Given the description of an element on the screen output the (x, y) to click on. 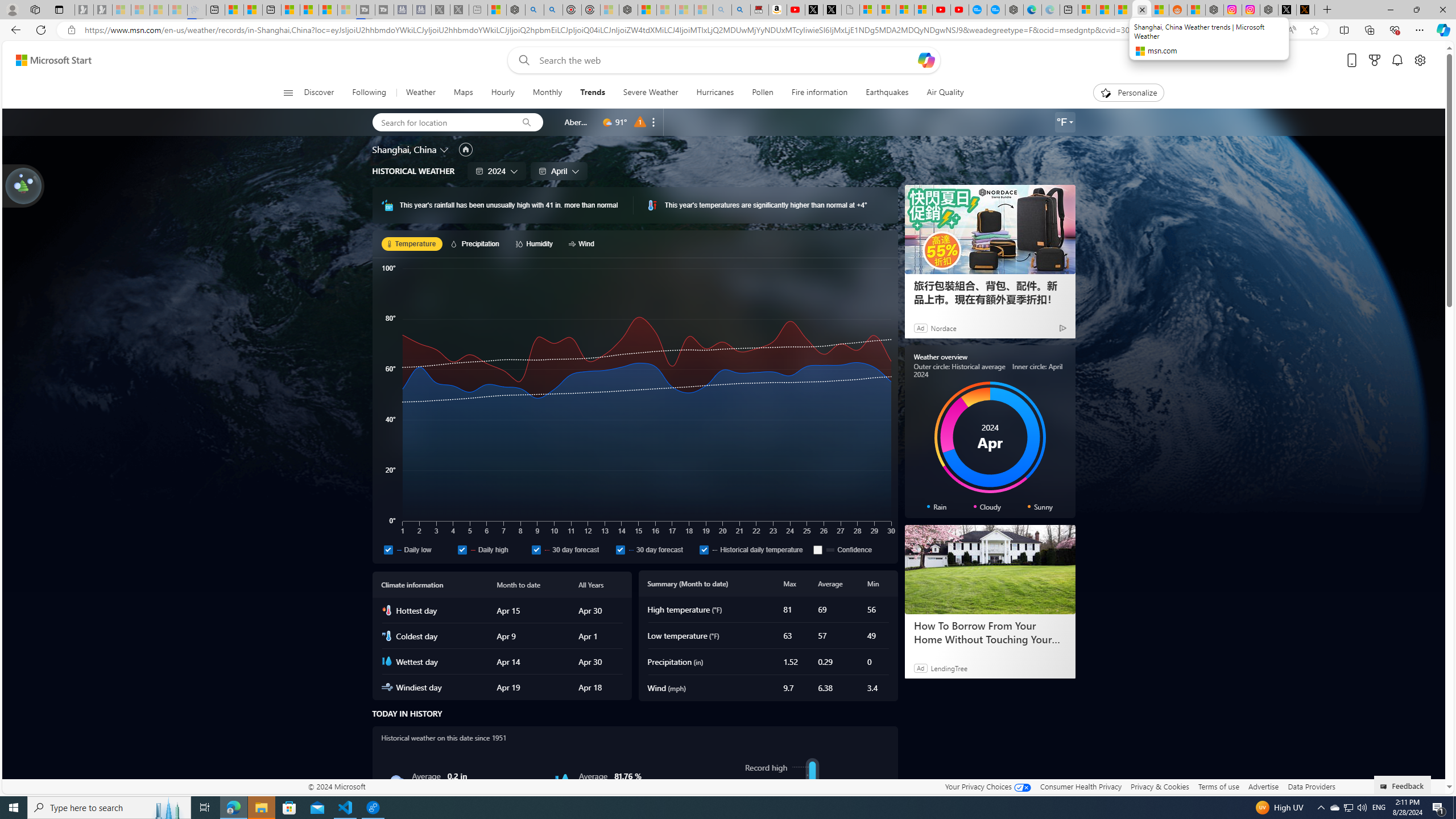
Personalize (1128, 92)
poe ++ standard - Search (552, 9)
2024 (496, 170)
Temperature (411, 243)
Earthquakes (887, 92)
Daily high (492, 549)
Fire information (819, 92)
Nordace - Nordace has arrived Hong Kong (1013, 9)
